Given the description of an element on the screen output the (x, y) to click on. 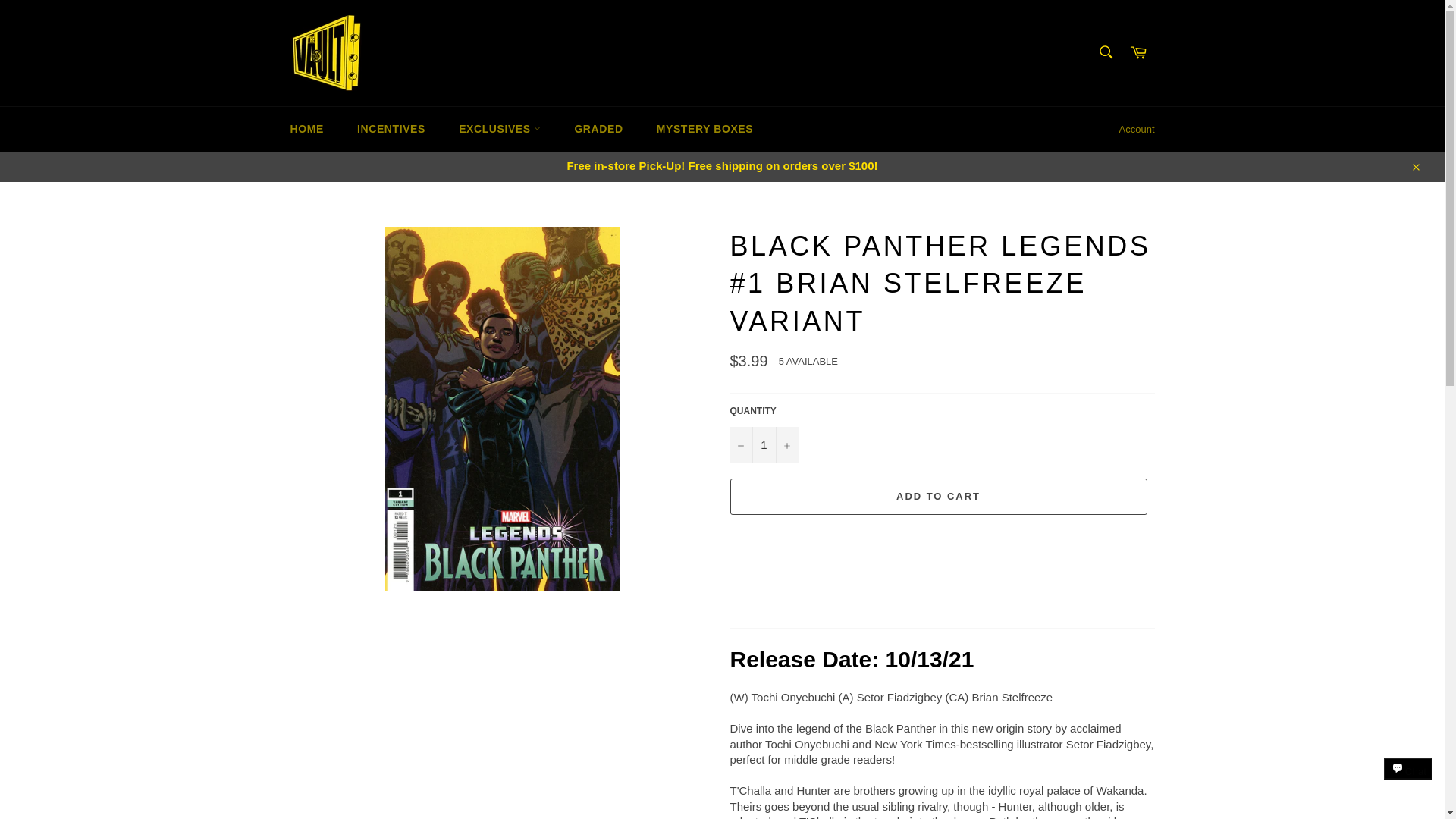
Cart (1138, 53)
GRADED (598, 129)
1 (763, 444)
EXCLUSIVES (500, 129)
Account (1136, 129)
Shopify online store chat (1408, 781)
Close (1414, 165)
Search (1104, 51)
HOME (306, 129)
INCENTIVES (391, 129)
